Given the description of an element on the screen output the (x, y) to click on. 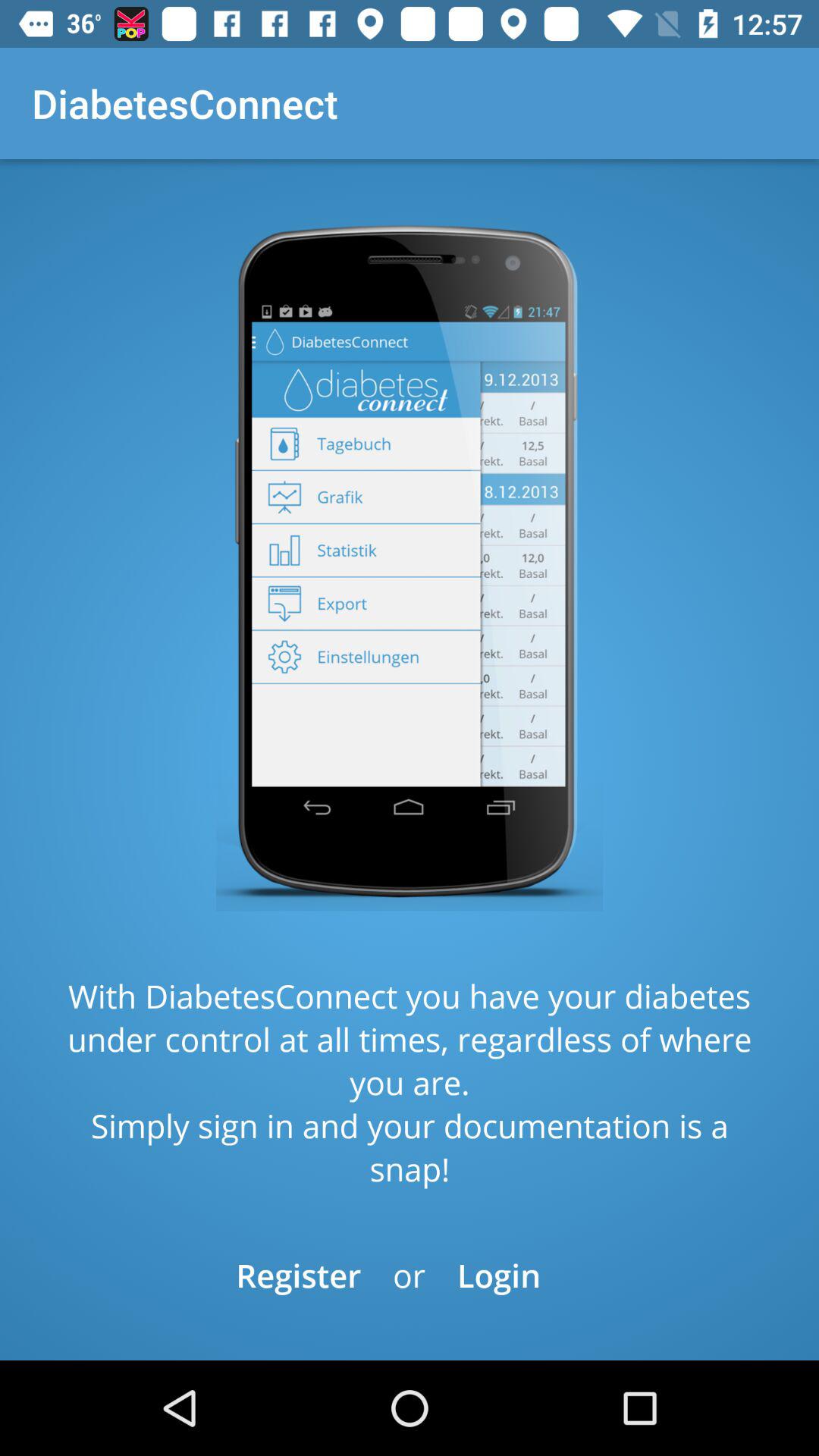
flip until the login icon (498, 1275)
